Given the description of an element on the screen output the (x, y) to click on. 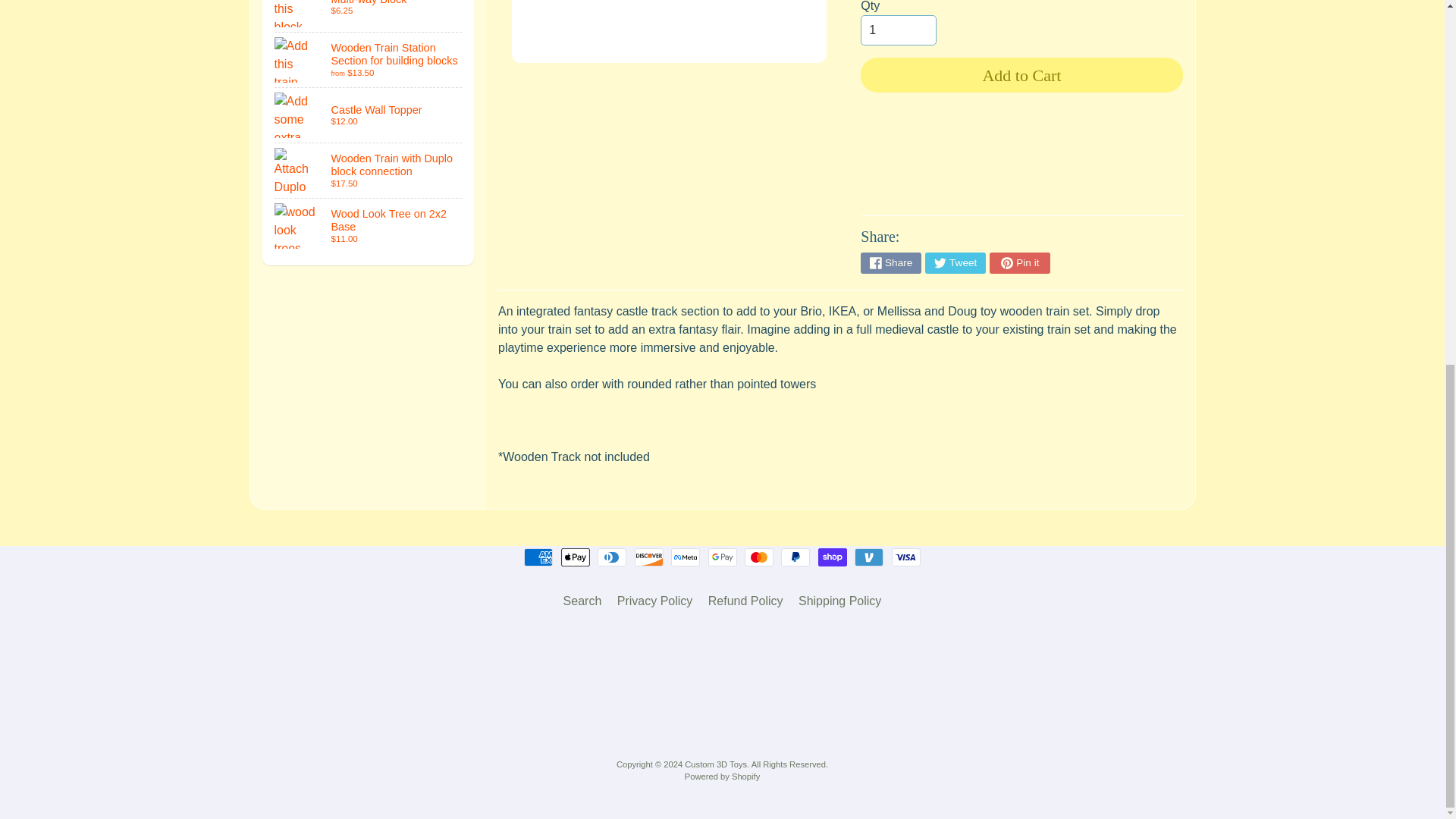
Meta Pay (685, 556)
Add to Cart (1021, 74)
Tweet on Twitter (954, 262)
Shop Pay (832, 556)
Mastercard (758, 556)
American Express (538, 556)
1 (898, 30)
Diners Club (611, 556)
Visa (905, 556)
Wood Look Tree on 2x2 Base (369, 226)
